Given the description of an element on the screen output the (x, y) to click on. 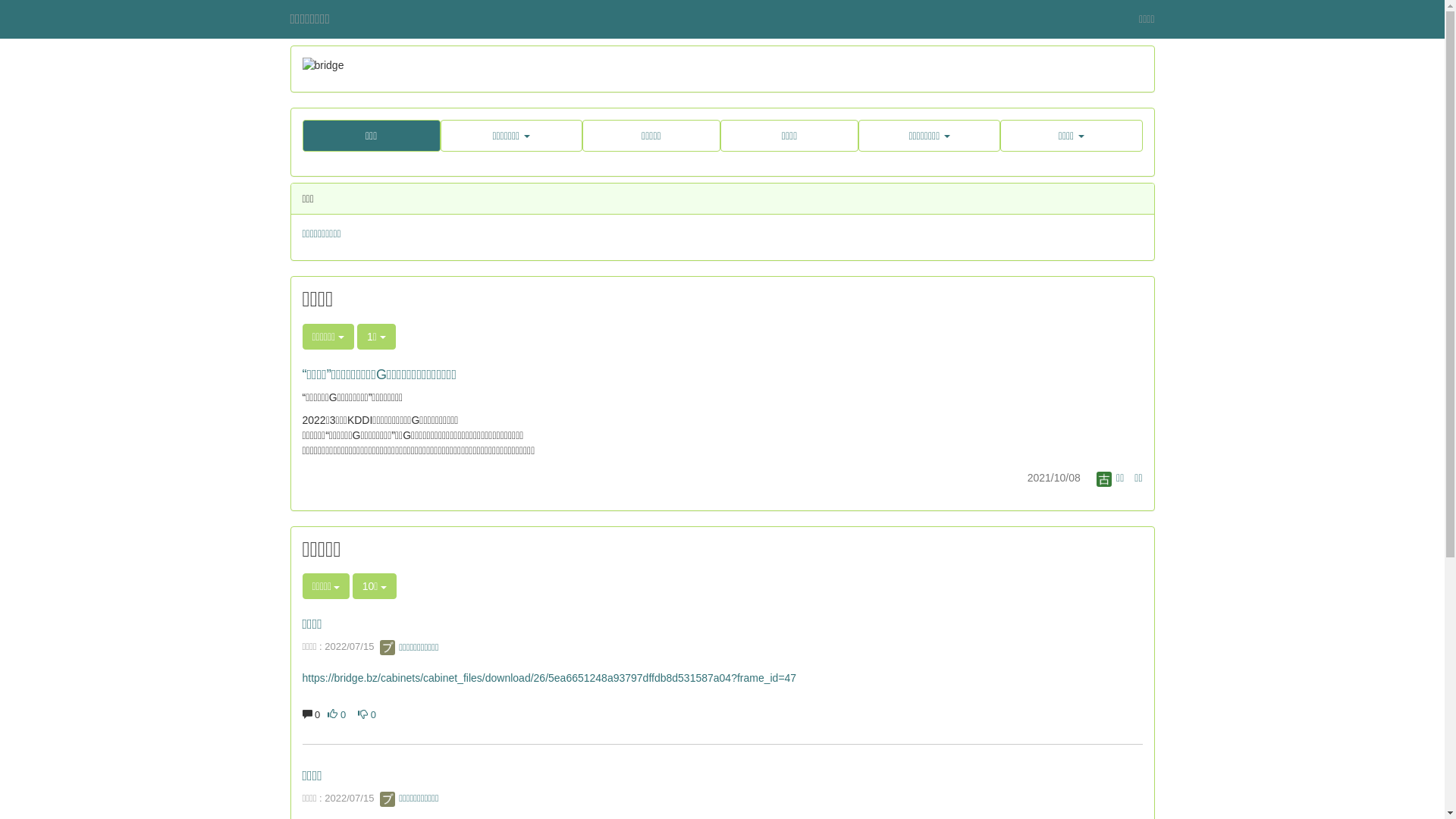
bridge Element type: hover (721, 64)
0 Element type: text (366, 714)
0 Element type: text (336, 714)
